Given the description of an element on the screen output the (x, y) to click on. 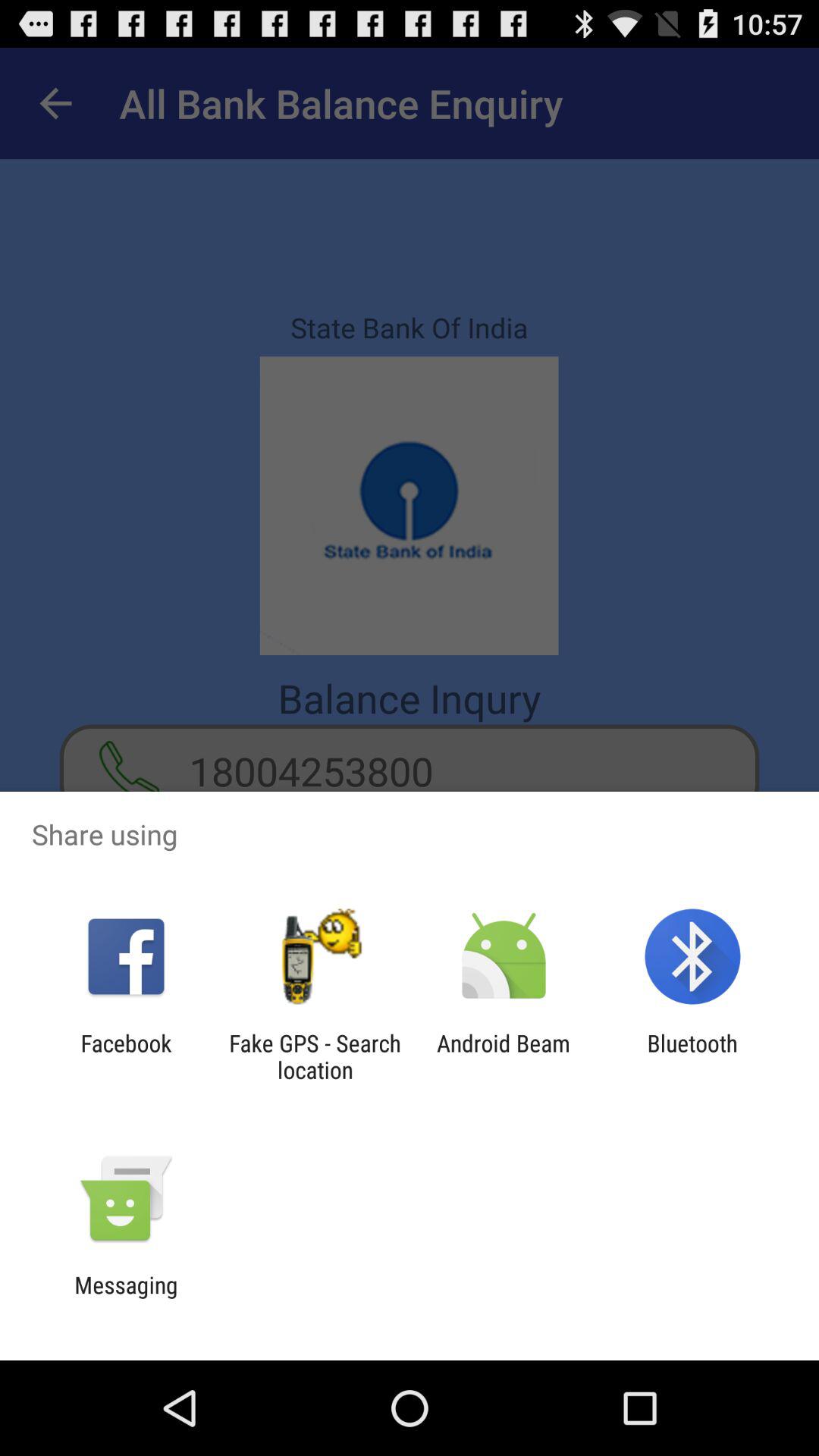
jump to the fake gps search icon (314, 1056)
